Given the description of an element on the screen output the (x, y) to click on. 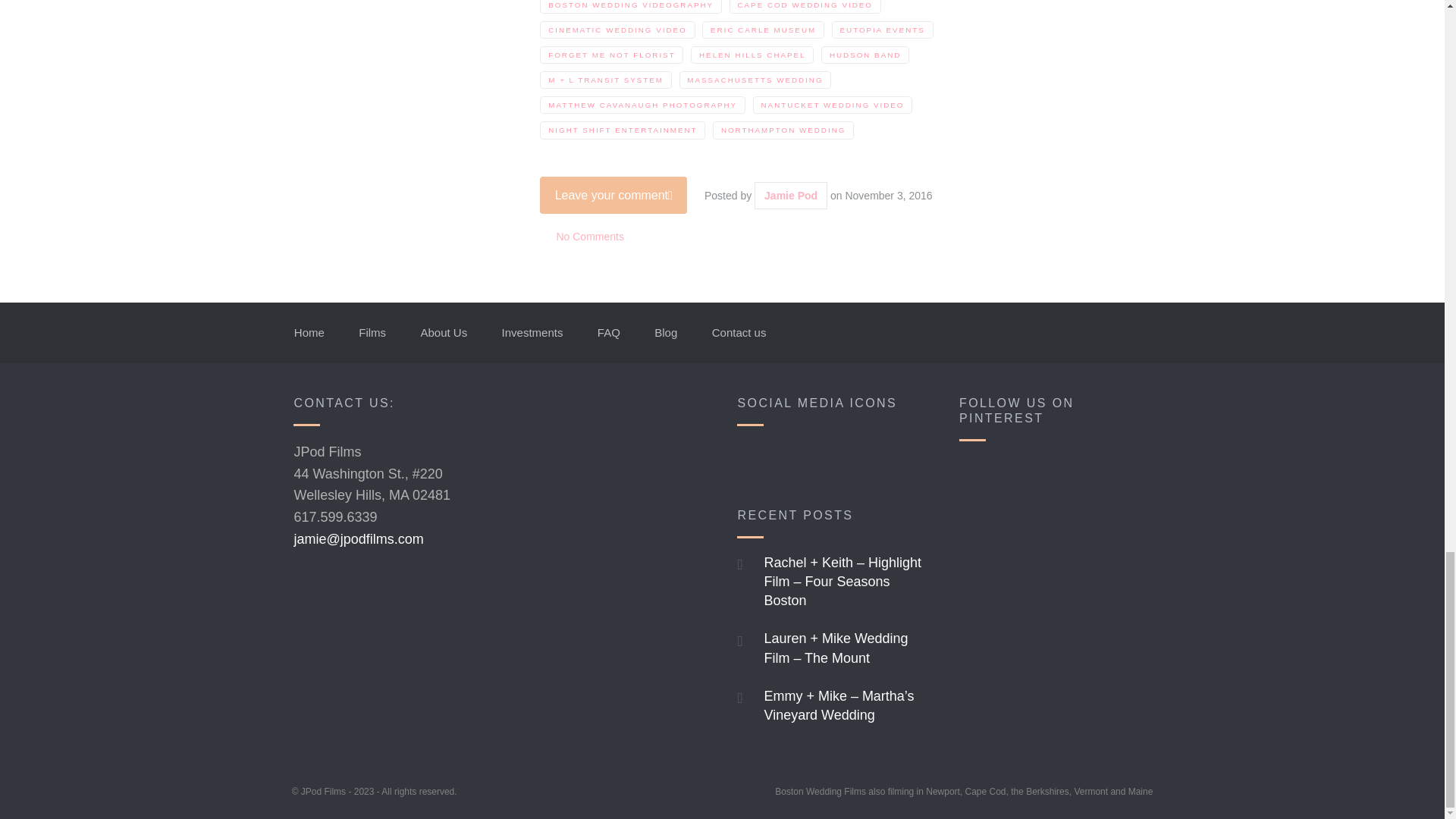
About Us (451, 332)
View all posts by Jamie Pod (790, 195)
Visit Us On Youtube (792, 458)
Visit Us On Facebook (755, 458)
Visit Us On Instagram (904, 458)
Visit Us On Linkedin (829, 458)
Visit Us On Twitter (866, 458)
